Given the description of an element on the screen output the (x, y) to click on. 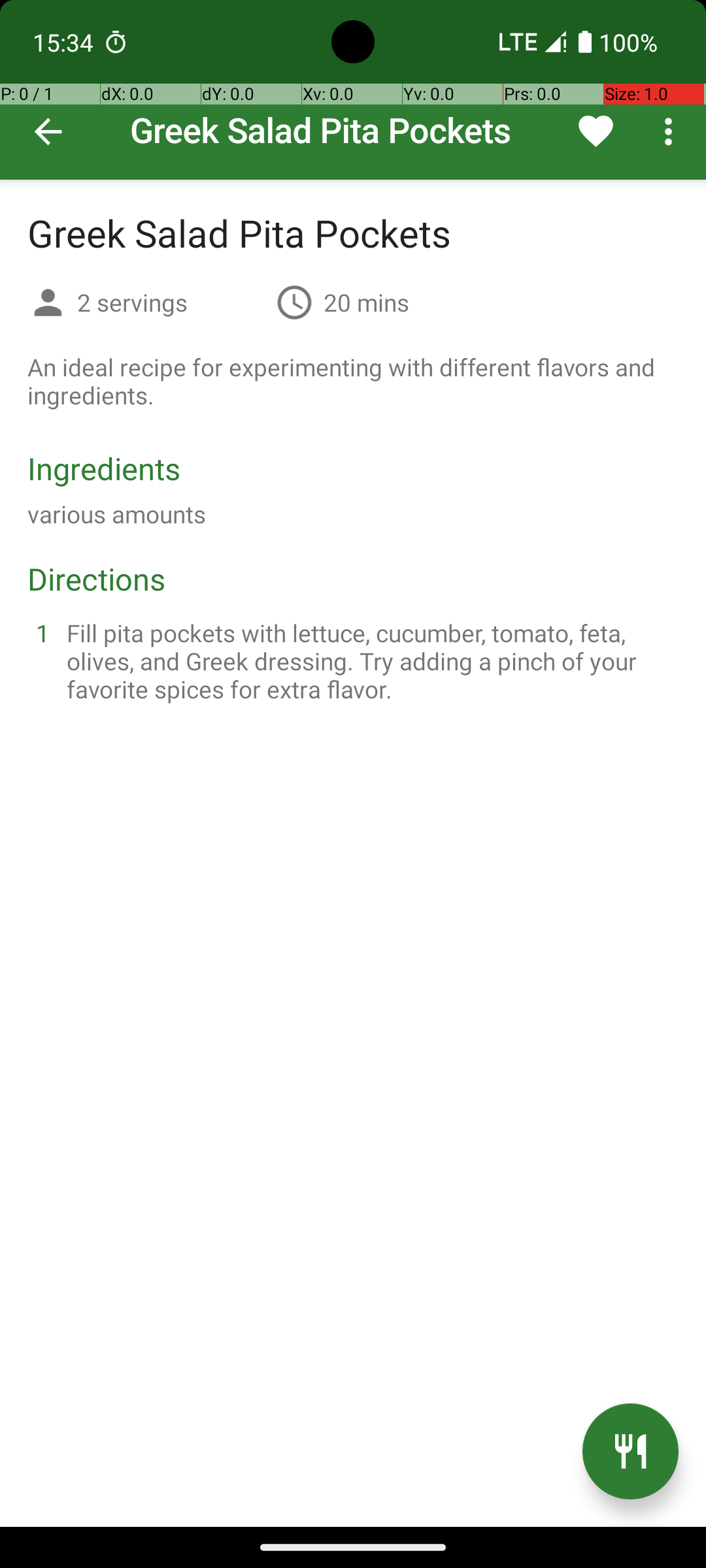
Fill pita pockets with lettuce, cucumber, tomato, feta, olives, and Greek dressing. Try adding a pinch of your favorite spices for extra flavor. Element type: android.widget.TextView (368, 660)
